Given the description of an element on the screen output the (x, y) to click on. 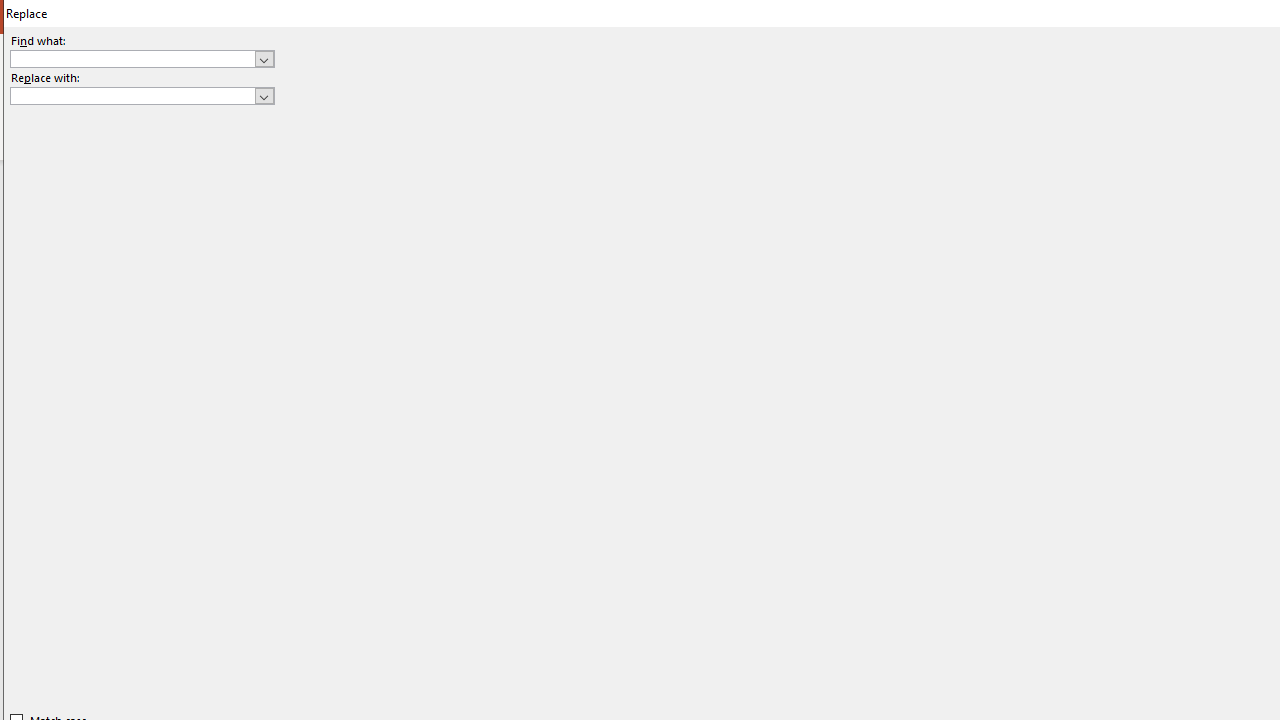
Find what (132, 58)
Replace with (142, 96)
Replace with (132, 95)
Find what (142, 58)
